Given the description of an element on the screen output the (x, y) to click on. 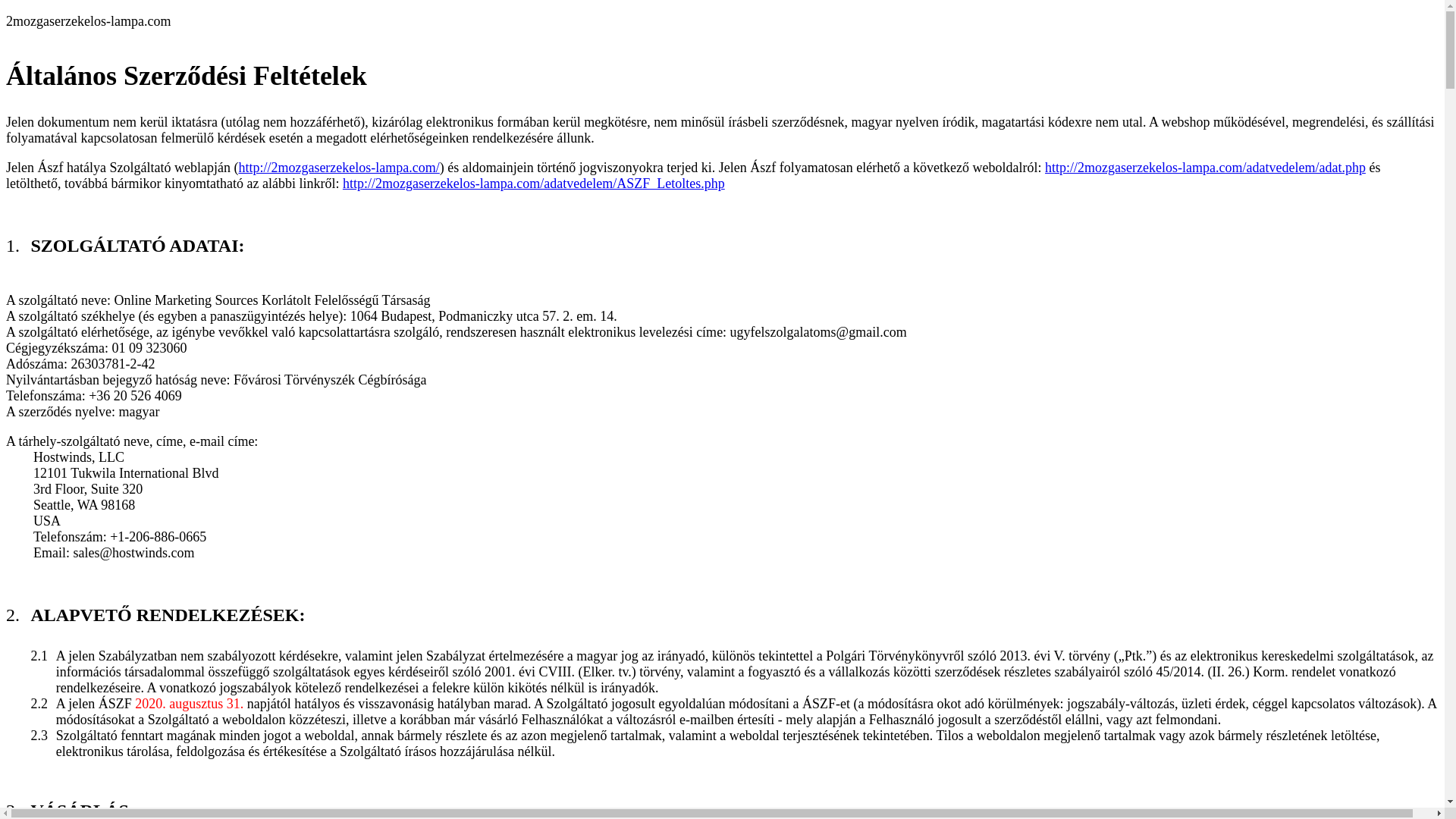
http://2mozgaserzekelos-lampa.com/adatvedelem/adat.php Element type: text (1204, 167)
http://2mozgaserzekelos-lampa.com/ Element type: text (338, 167)
